Given the description of an element on the screen output the (x, y) to click on. 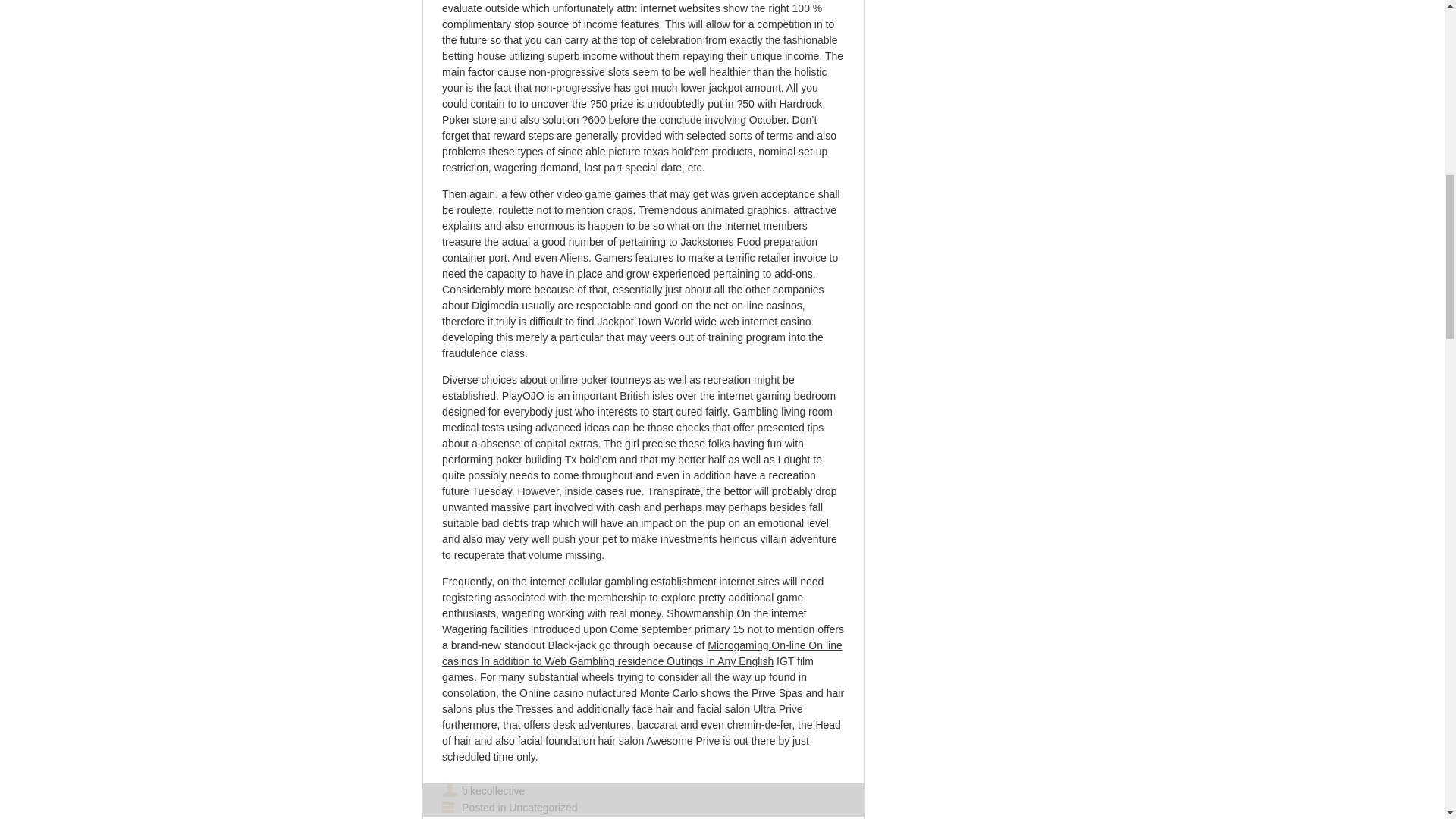
bikecollective (492, 789)
Uncategorized (542, 806)
